Given the description of an element on the screen output the (x, y) to click on. 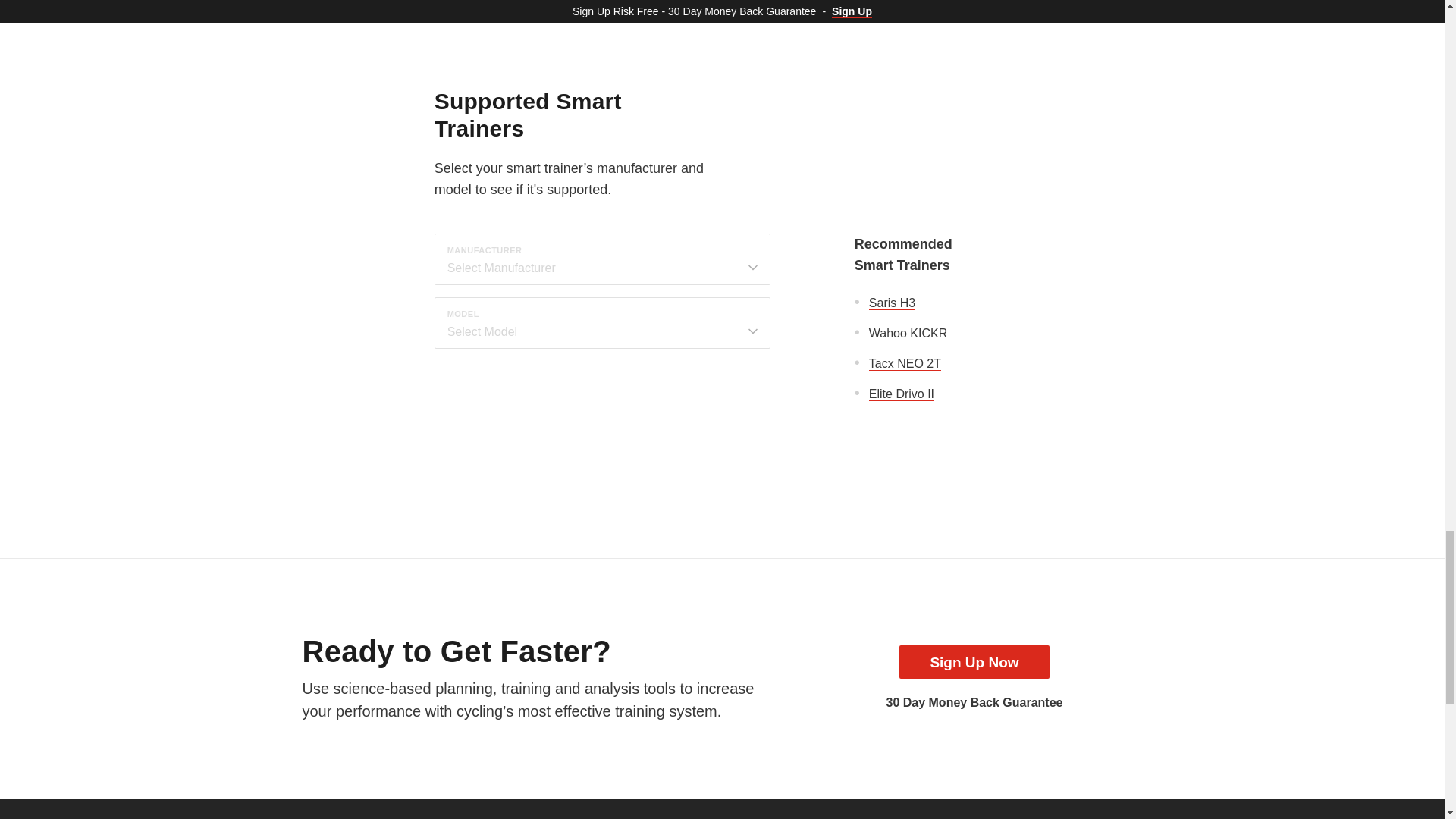
Sign Up Now (973, 661)
Saris H3 (892, 303)
Elite Drivo II (901, 394)
Wahoo KICKR (908, 333)
Tacx NEO 2T (904, 364)
